Given the description of an element on the screen output the (x, y) to click on. 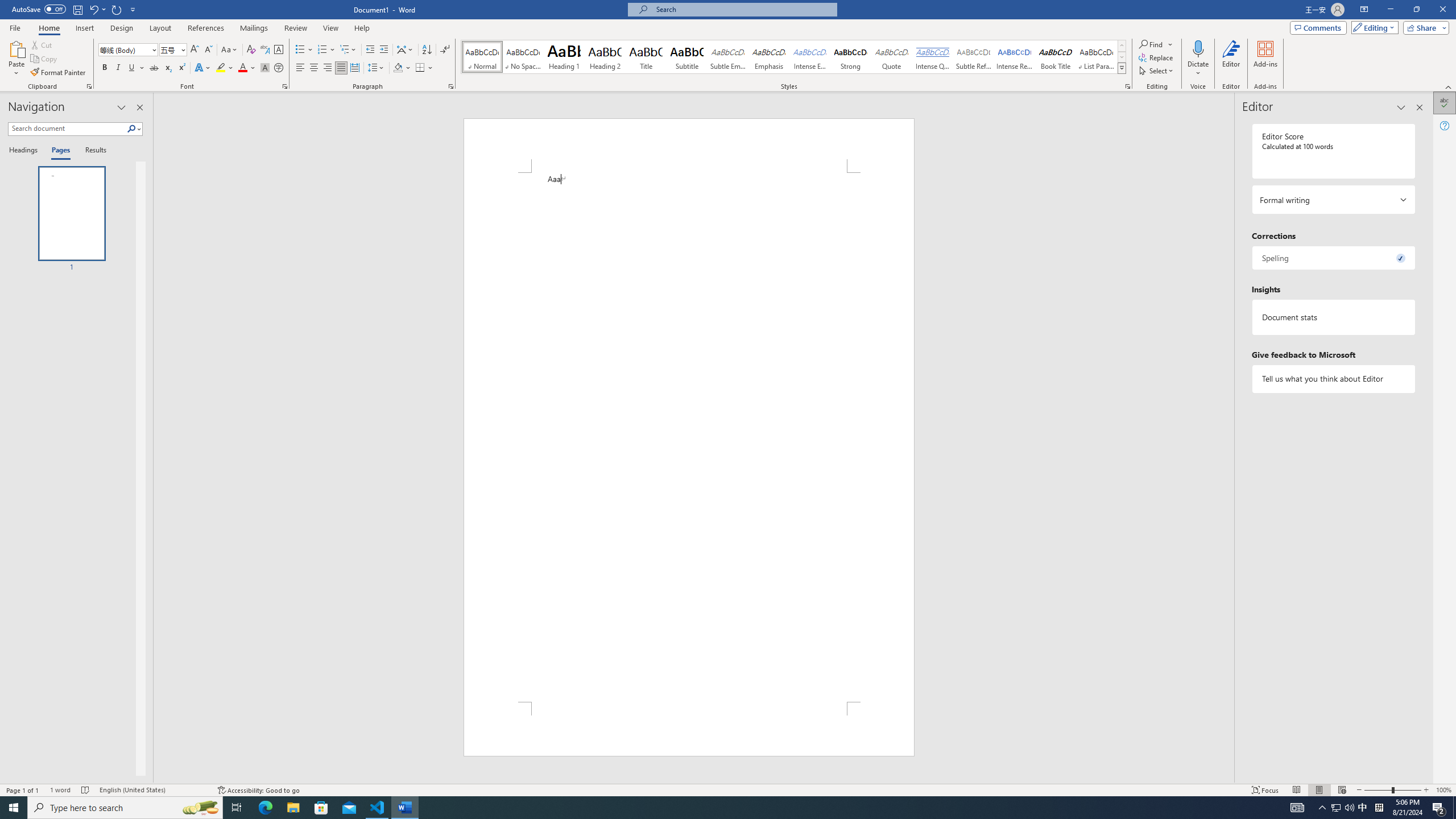
Microsoft search (742, 9)
Font (128, 49)
View (330, 28)
Pages (59, 150)
Format Painter (58, 72)
System (6, 6)
Office Clipboard... (88, 85)
Spelling and Grammar Check No Errors (85, 790)
Mode (1372, 27)
Find (1155, 44)
Zoom (1392, 790)
Quote (891, 56)
Language English (United States) (152, 790)
Document statistics (1333, 316)
